Given the description of an element on the screen output the (x, y) to click on. 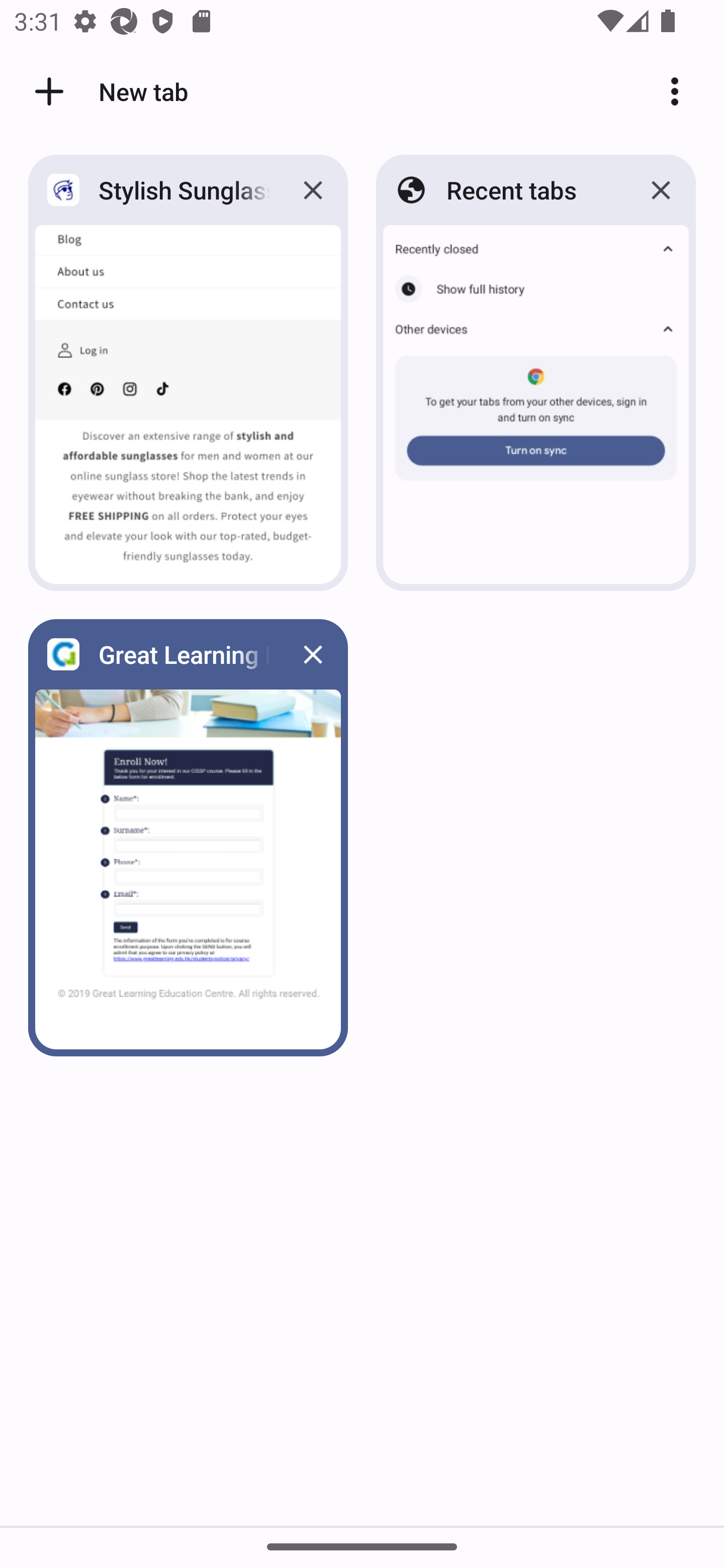
New tab (108, 91)
More options (681, 91)
Recent tabs Recent tabs, tab Close Recent tabs tab (536, 373)
Close Recent tabs tab (660, 189)
Close Great Learning Education Centre tab (312, 653)
